Given the description of an element on the screen output the (x, y) to click on. 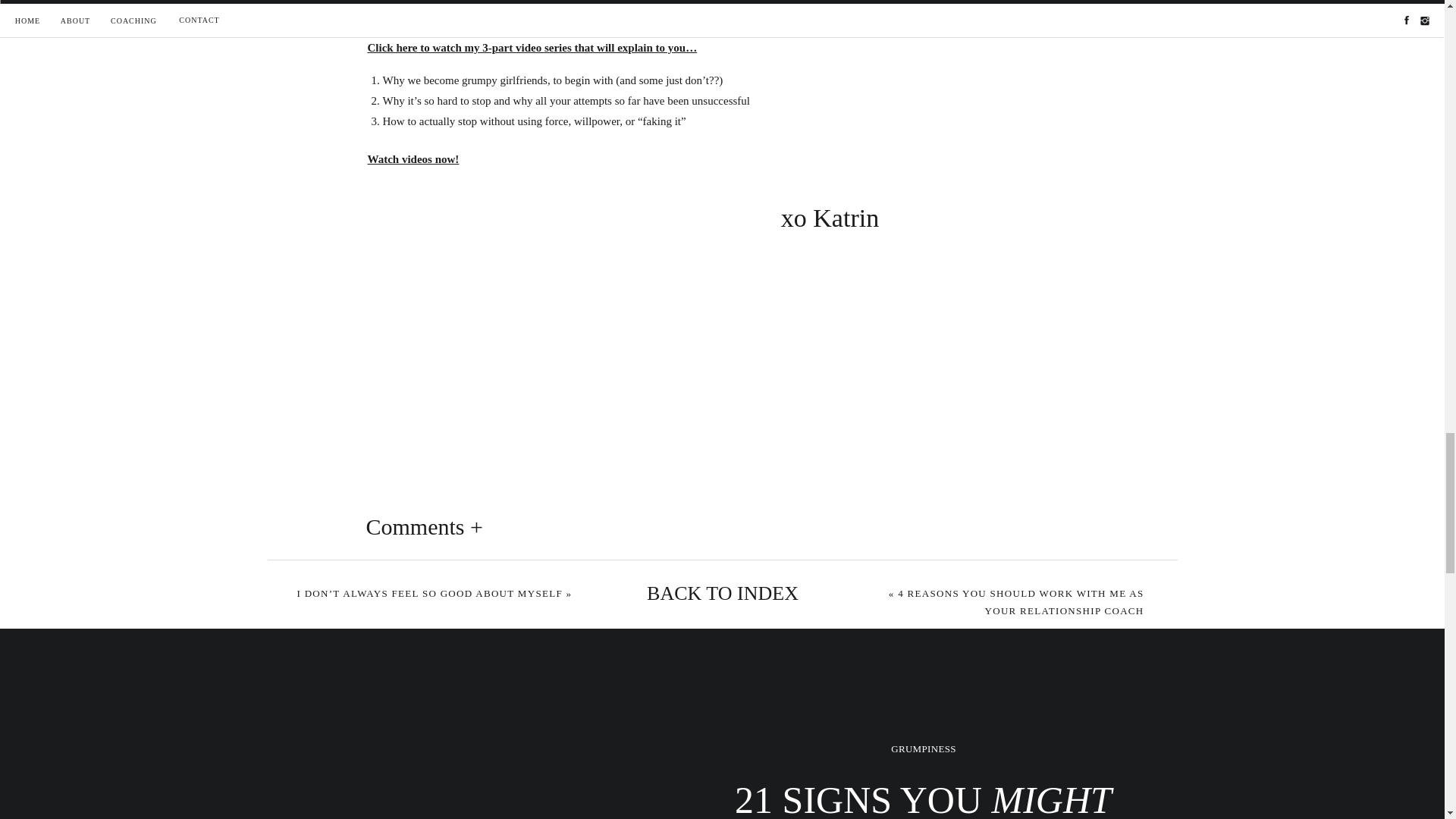
21 SIGNS YOU MIGHT BE A GRUMPY GIRLFRIEND (923, 798)
4 REASONS YOU SHOULD WORK WITH ME AS YOUR RELATIONSHIP COACH (1020, 602)
Watch videos now! (412, 159)
BACK TO INDEX (721, 594)
GRUMPINESS (922, 748)
